Given the description of an element on the screen output the (x, y) to click on. 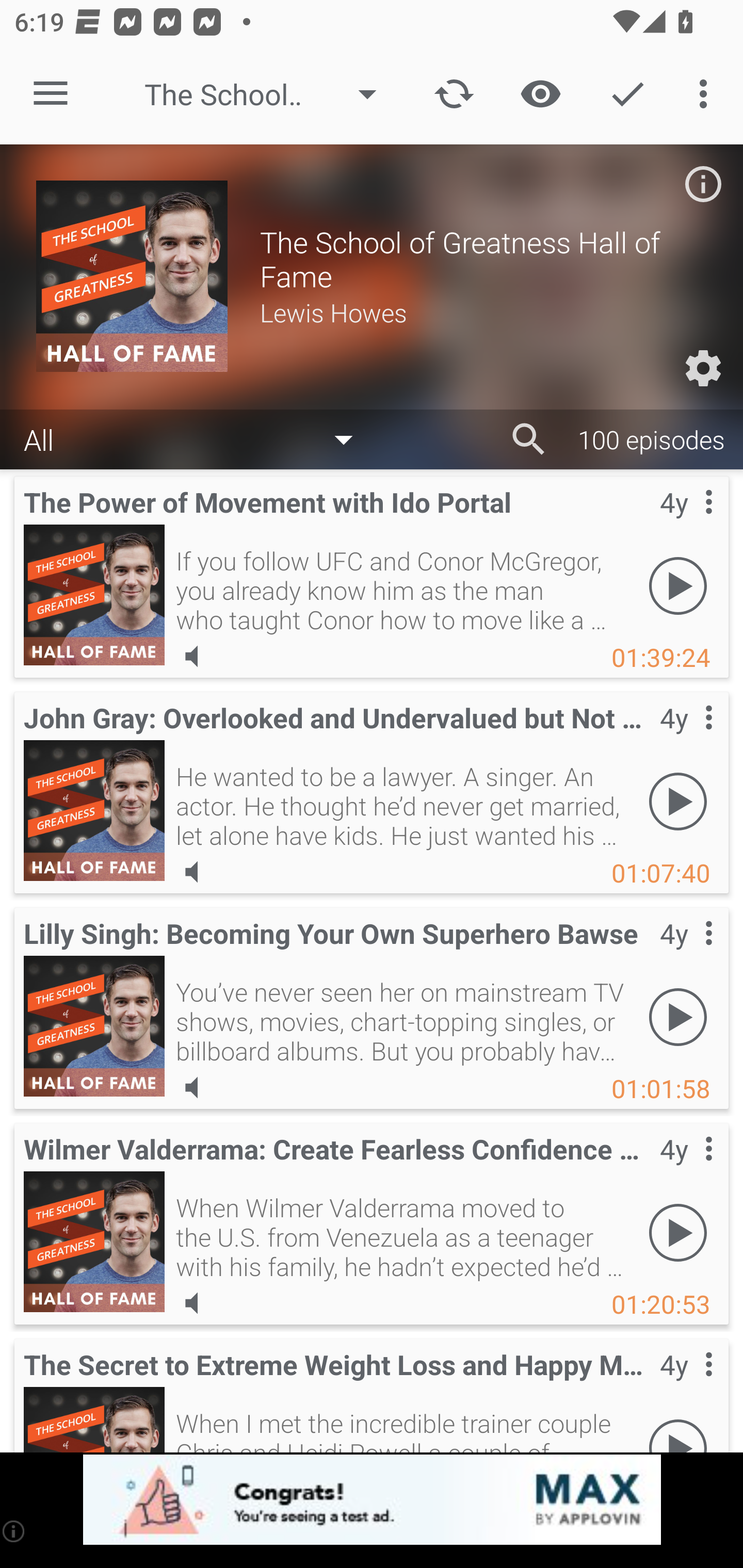
Open navigation sidebar (50, 93)
Update (453, 93)
Show / Hide played content (540, 93)
Action Mode (626, 93)
More options (706, 93)
The School of Greatness Hall of Fame (270, 94)
Podcast description (703, 184)
Lewis Howes (483, 311)
Custom Settings (703, 368)
Search (528, 439)
All (197, 438)
Contextual menu (685, 522)
The Power of Movement with Ido Portal (93, 594)
Play (677, 585)
Contextual menu (685, 738)
Play (677, 801)
Contextual menu (685, 954)
Lilly Singh: Becoming Your Own Superhero Bawse (93, 1026)
Play (677, 1016)
Contextual menu (685, 1169)
Play (677, 1232)
Contextual menu (685, 1385)
app-monetization (371, 1500)
(i) (14, 1531)
